Given the description of an element on the screen output the (x, y) to click on. 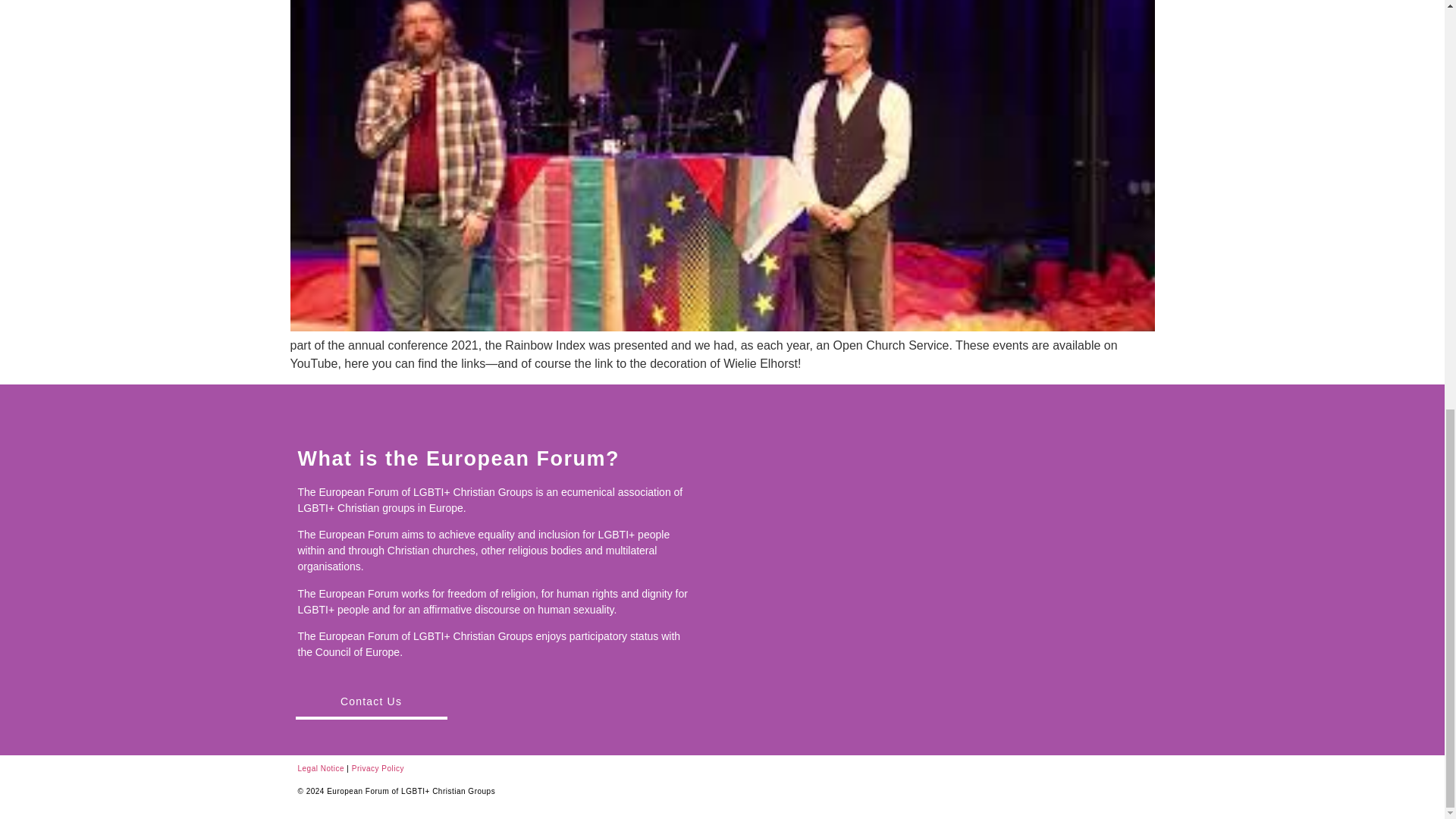
Privacy Policy (378, 768)
Legal Notice (320, 768)
Contact Us (370, 702)
